Given the description of an element on the screen output the (x, y) to click on. 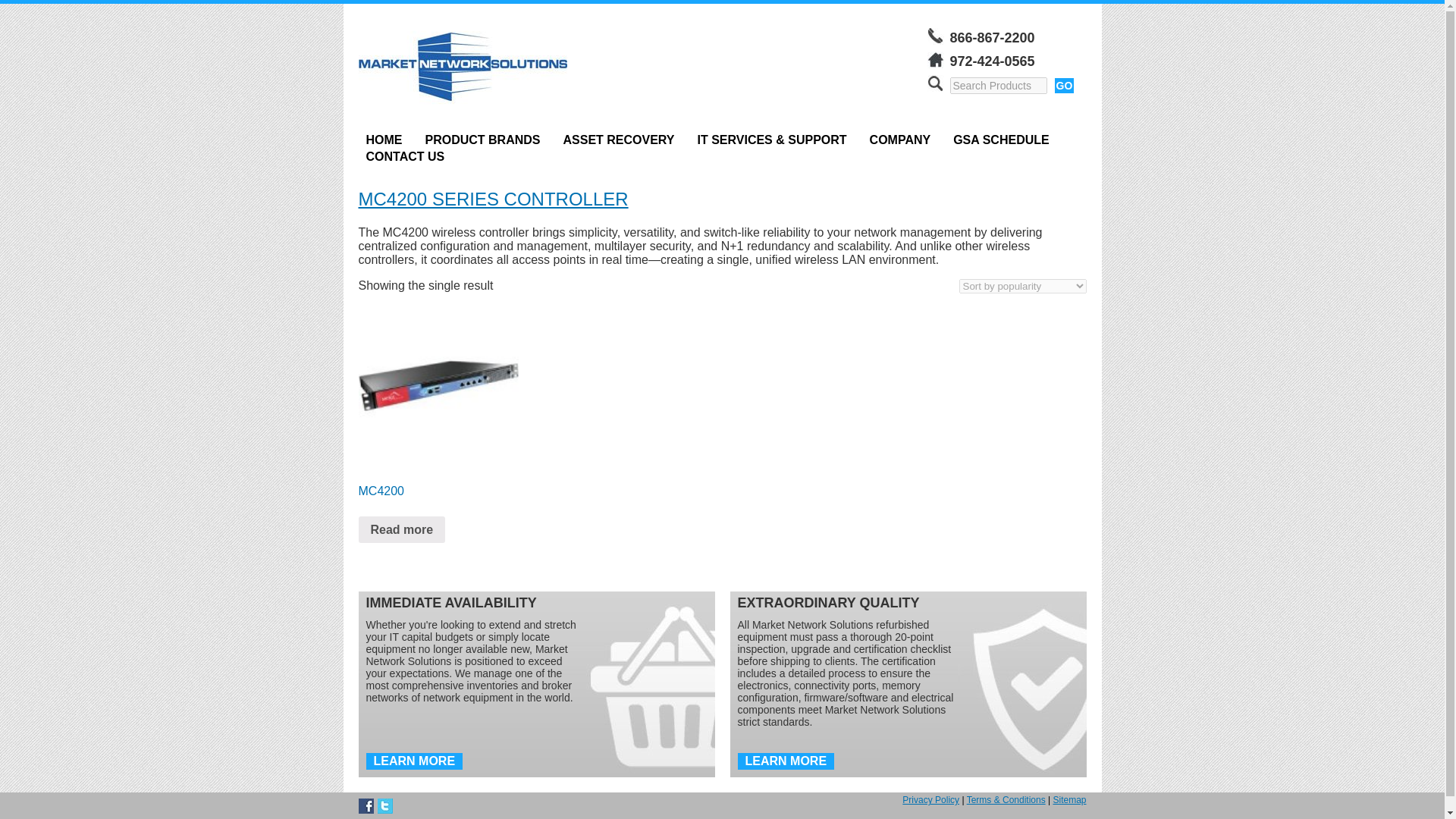
HOME (383, 140)
GO (1064, 84)
GO (1064, 84)
PRODUCT BRANDS (481, 140)
Search Products (997, 85)
